Given the description of an element on the screen output the (x, y) to click on. 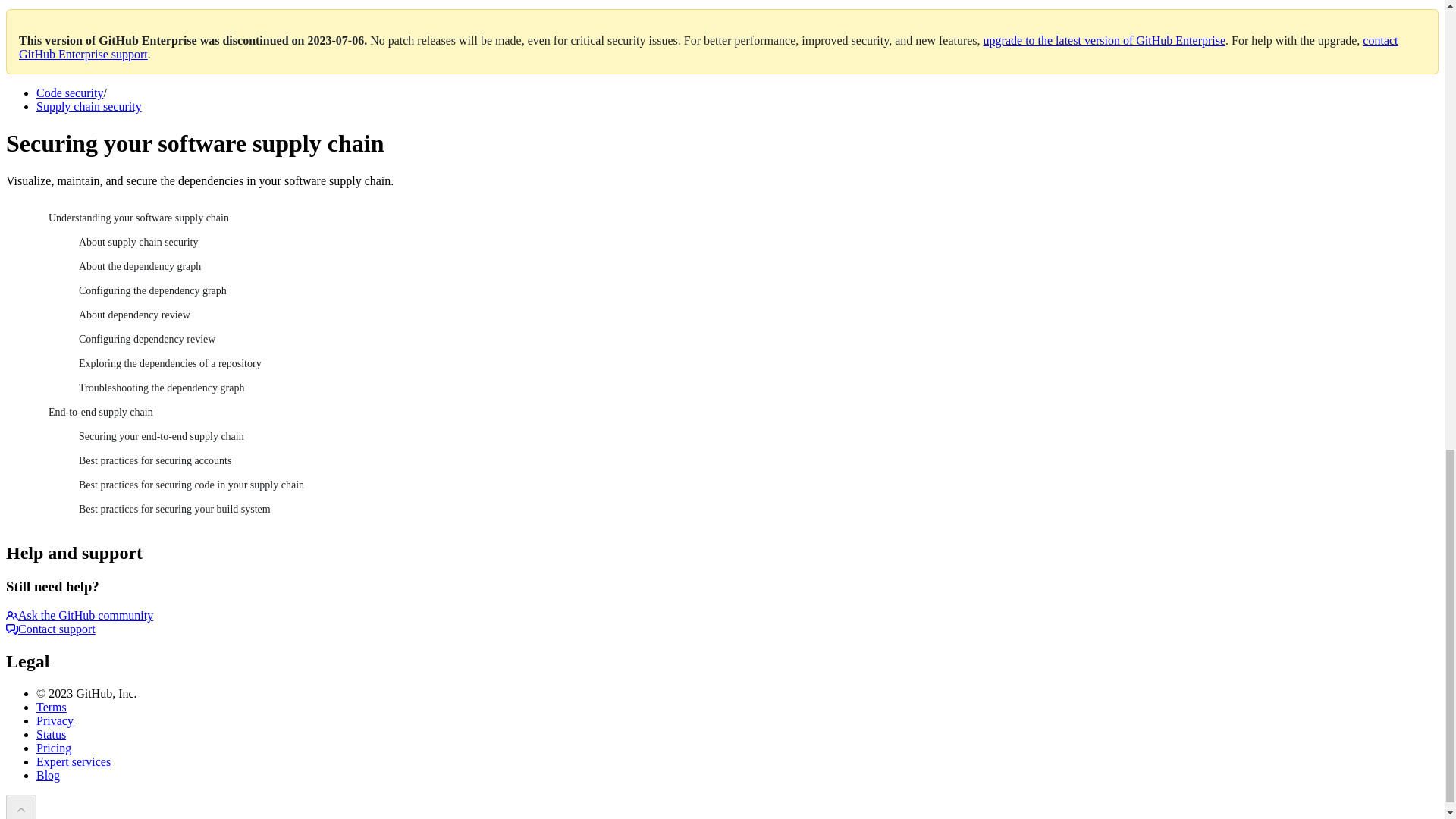
End-to-end supply chain (737, 412)
Contact support (50, 628)
Best practices for securing code in your supply chain (752, 485)
2023-07-06 (336, 40)
Understanding your software supply chain (737, 218)
Best practices for securing accounts (752, 460)
Best practices for securing your build system (752, 509)
About supply chain security (752, 242)
Configuring the dependency graph (752, 291)
Securing your end-to-end supply chain (752, 436)
